Given the description of an element on the screen output the (x, y) to click on. 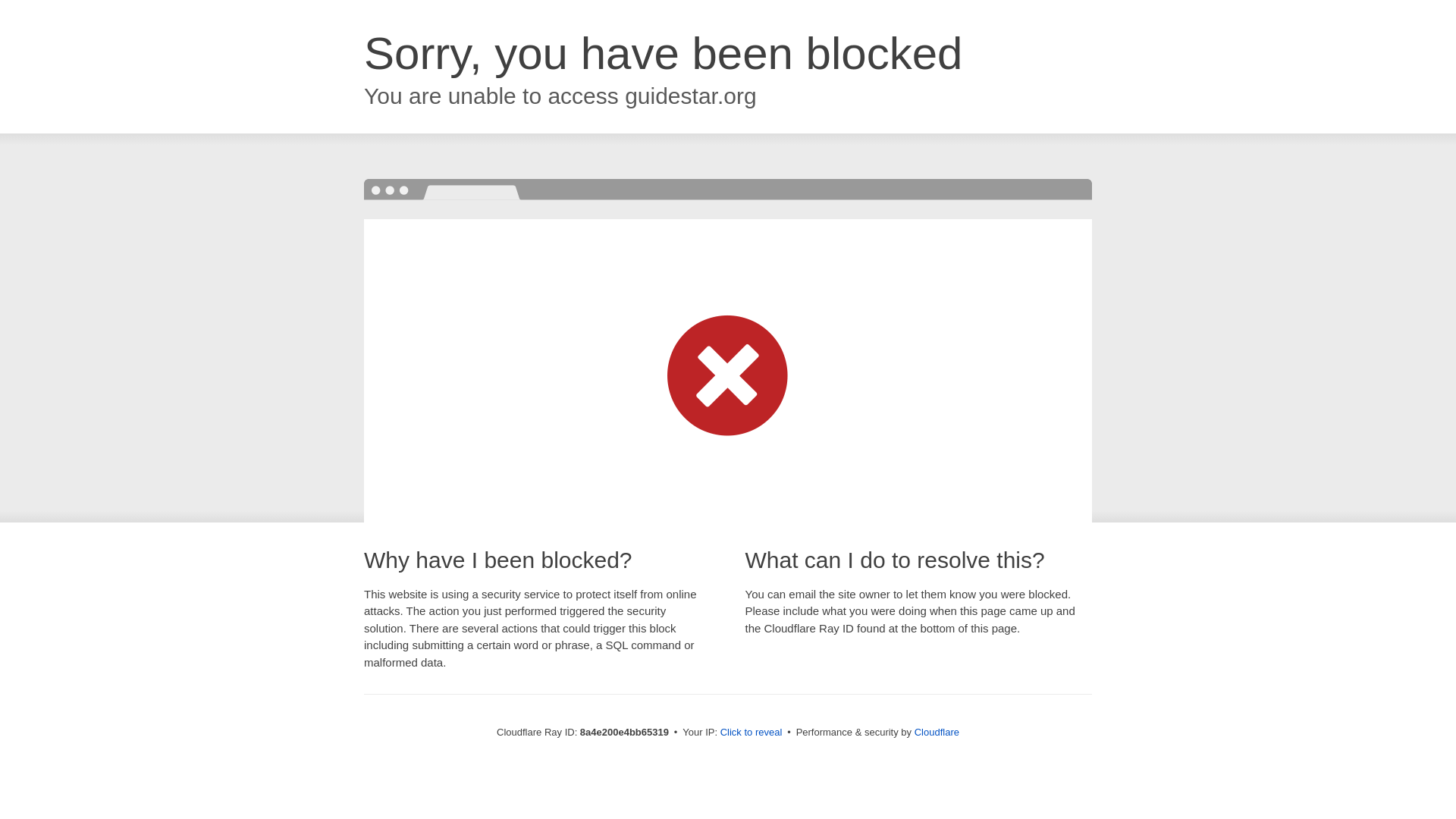
Click to reveal (751, 732)
Cloudflare (936, 731)
